Given the description of an element on the screen output the (x, y) to click on. 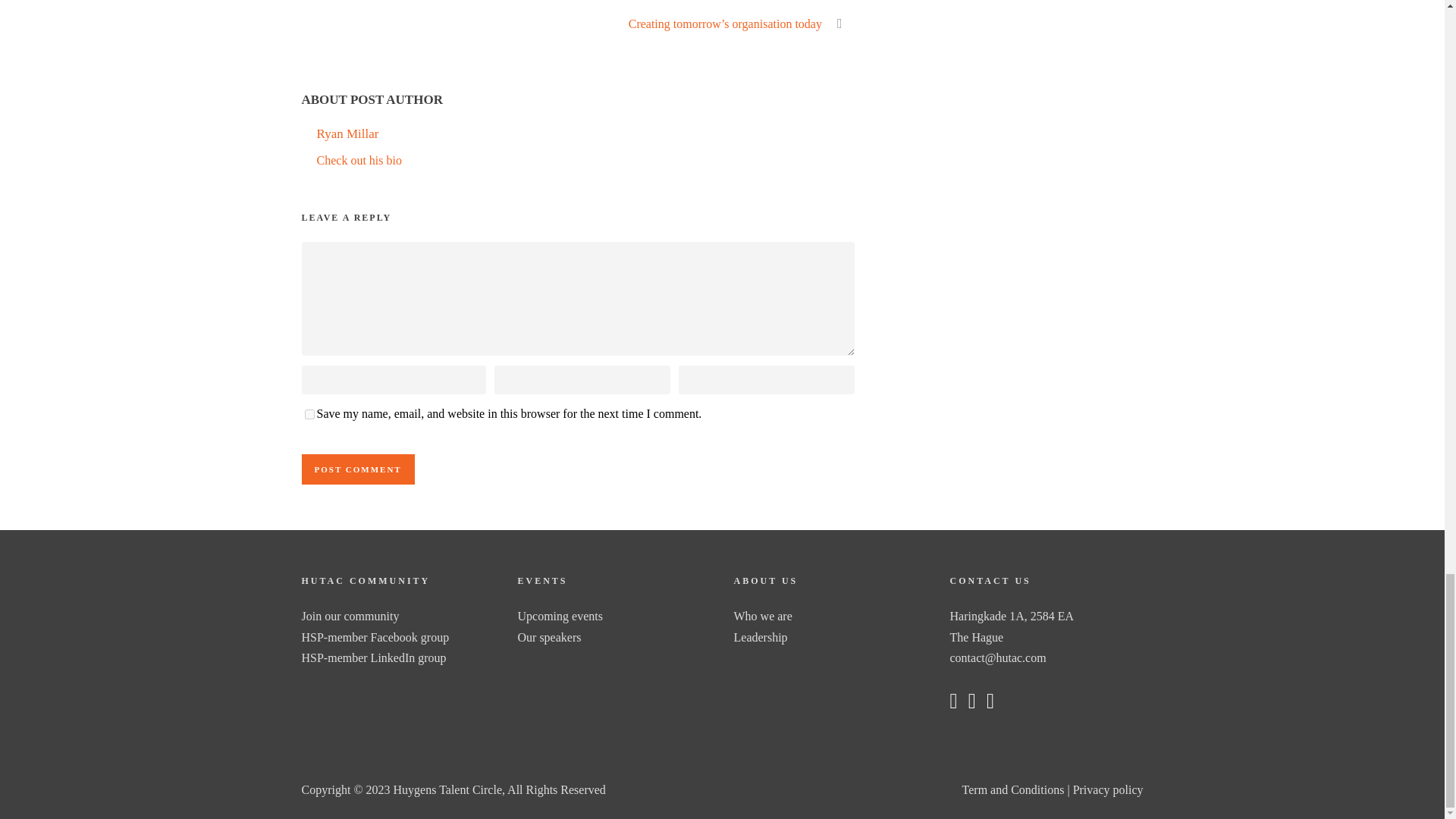
Post Comment (357, 469)
yes (309, 414)
Posts by Ryan Millar (347, 133)
